Given the description of an element on the screen output the (x, y) to click on. 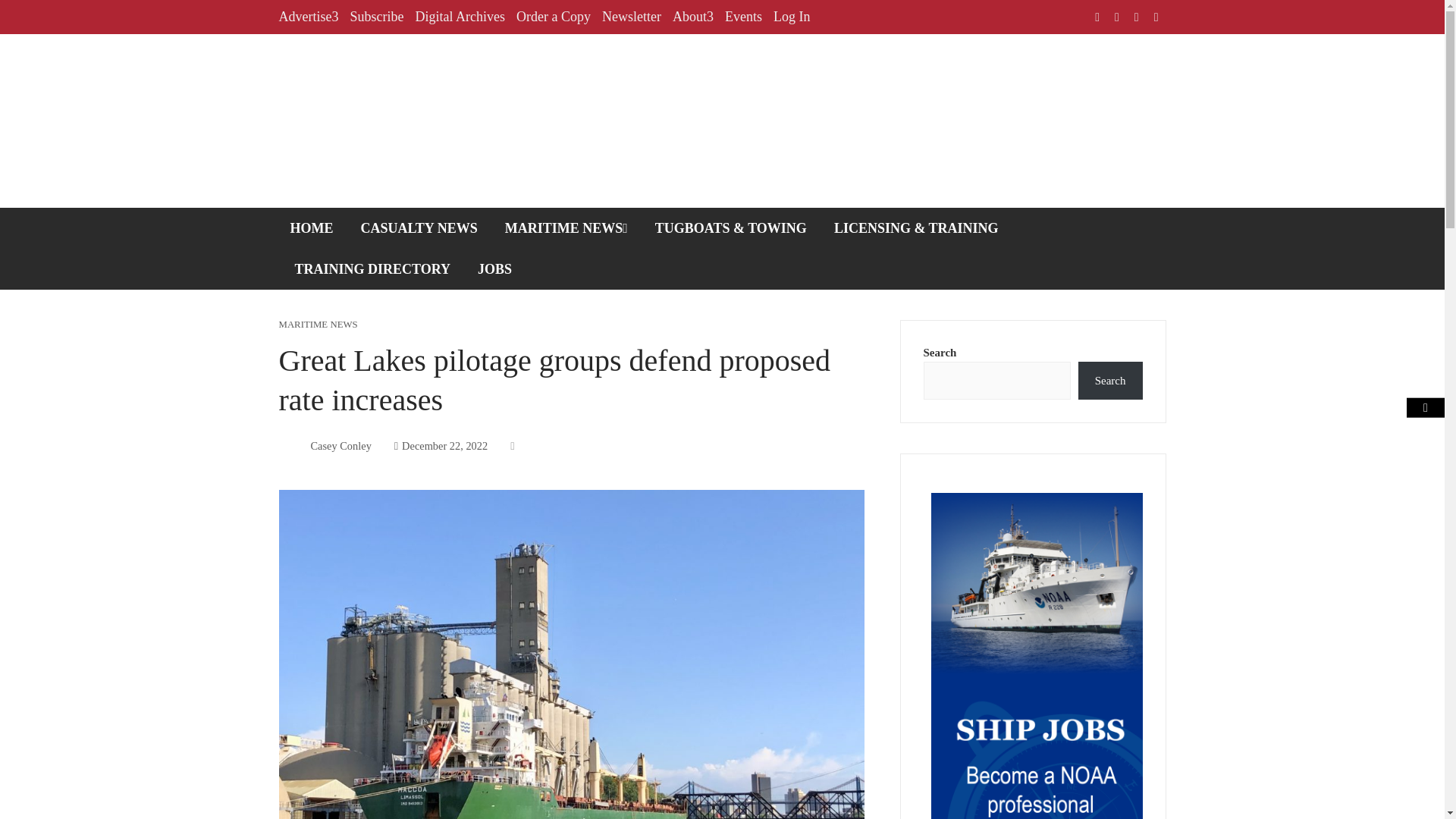
HOME (312, 228)
Order a Copy (553, 17)
JOBS (493, 268)
Subscribe (376, 17)
Log In (791, 17)
Digital Archives (458, 17)
Advertise (309, 17)
Events (743, 17)
Newsletter (631, 17)
MARITIME NEWS (566, 228)
